Given the description of an element on the screen output the (x, y) to click on. 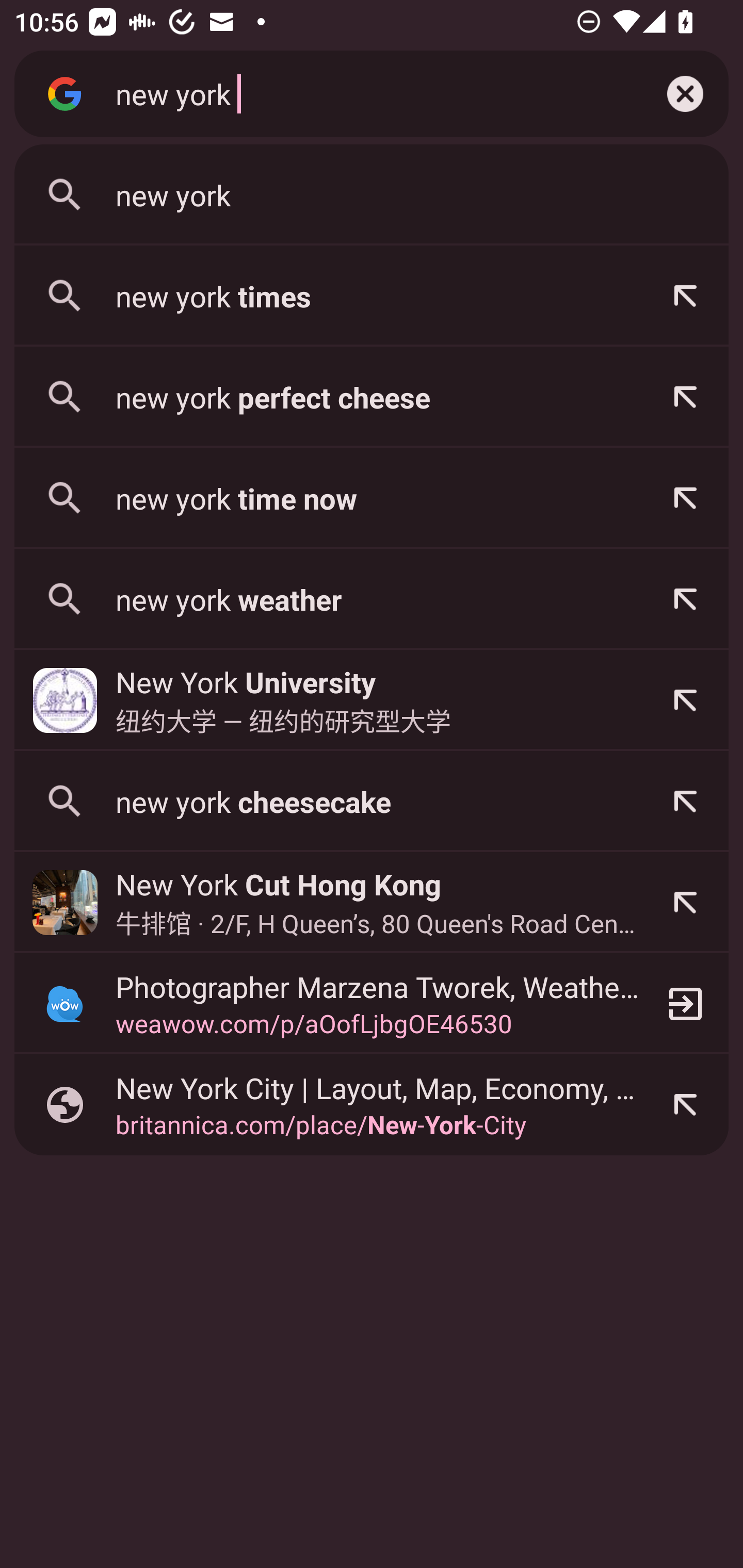
Clear input (684, 93)
new york  (367, 92)
new york (371, 195)
new york times Refine: new york times (371, 296)
Refine: new york times (684, 296)
Refine: new york perfect cheese (684, 397)
new york time now Refine: new york time now (371, 498)
Refine: new york time now (684, 498)
new york weather Refine: new york weather (371, 598)
Refine: new york weather (684, 598)
Refine: new york university (684, 700)
new york cheesecake Refine: new york cheesecake (371, 801)
Refine: new york cheesecake (684, 801)
Refine: new york cut (684, 902)
Switch To Tab (684, 1003)
